Given the description of an element on the screen output the (x, y) to click on. 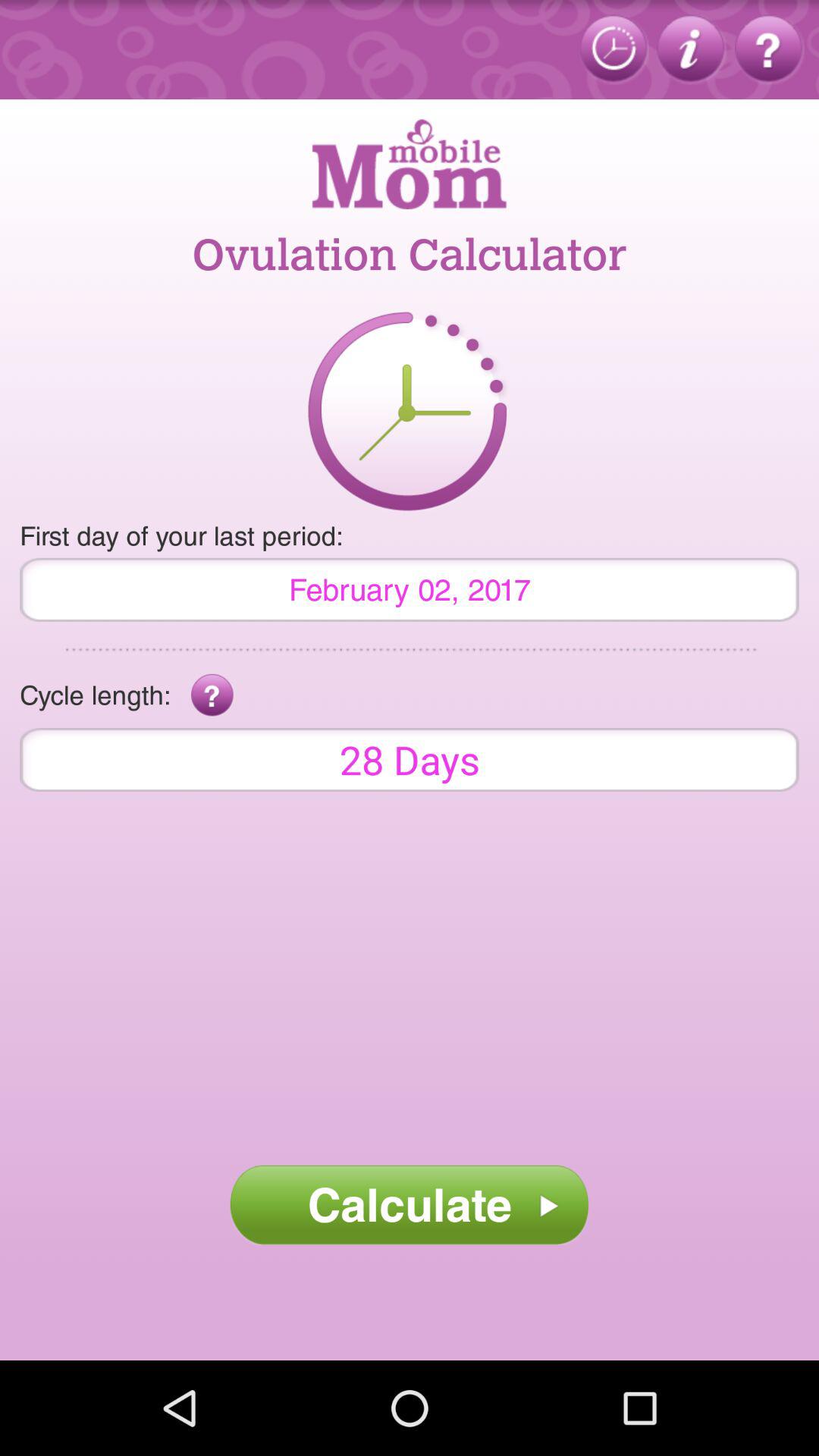
press app next to the cycle length: icon (212, 695)
